Given the description of an element on the screen output the (x, y) to click on. 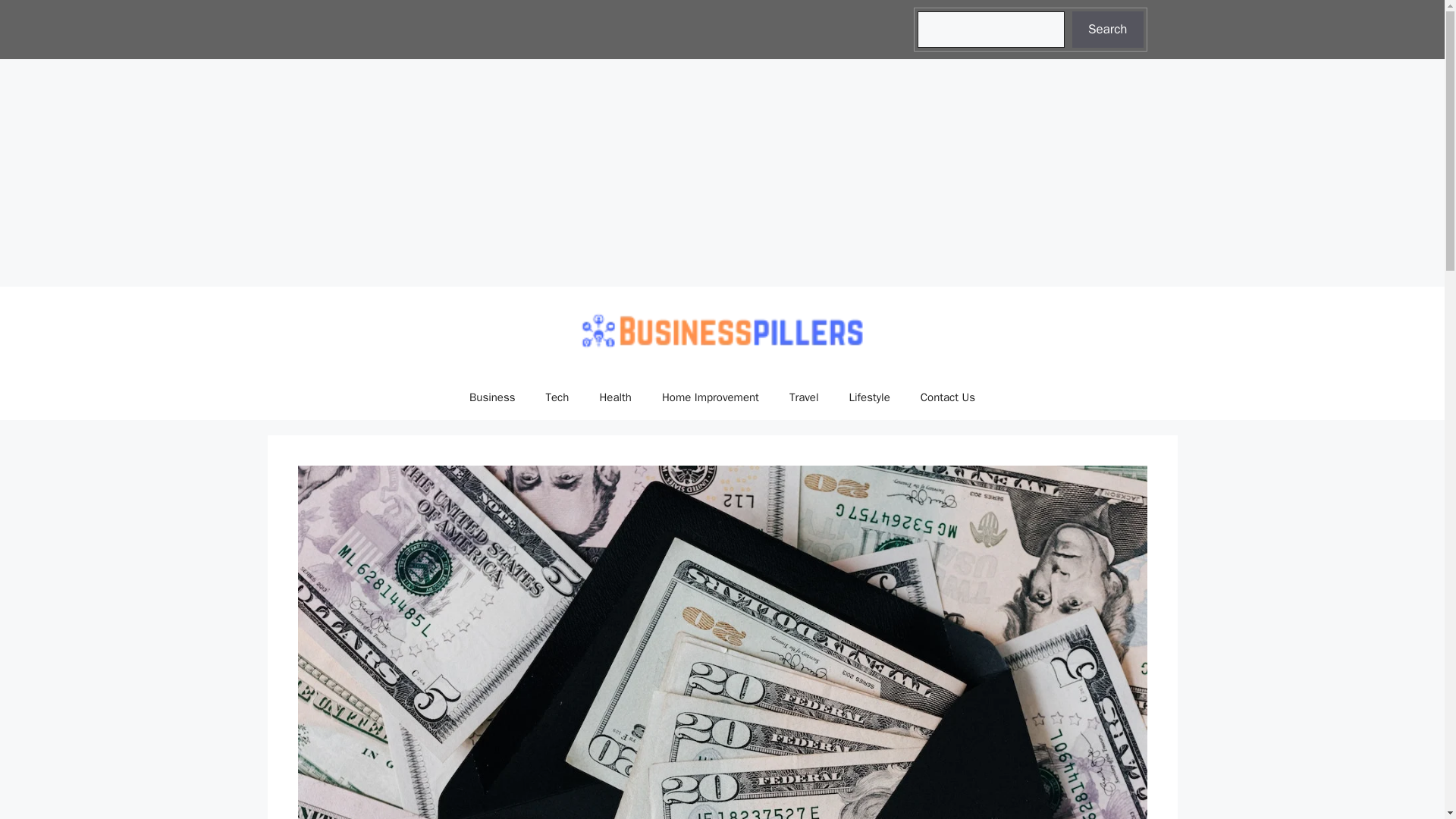
Lifestyle (869, 397)
Search (1106, 29)
Tech (558, 397)
Travel (804, 397)
Contact Us (947, 397)
Home Improvement (710, 397)
Health (614, 397)
Business (492, 397)
